Given the description of an element on the screen output the (x, y) to click on. 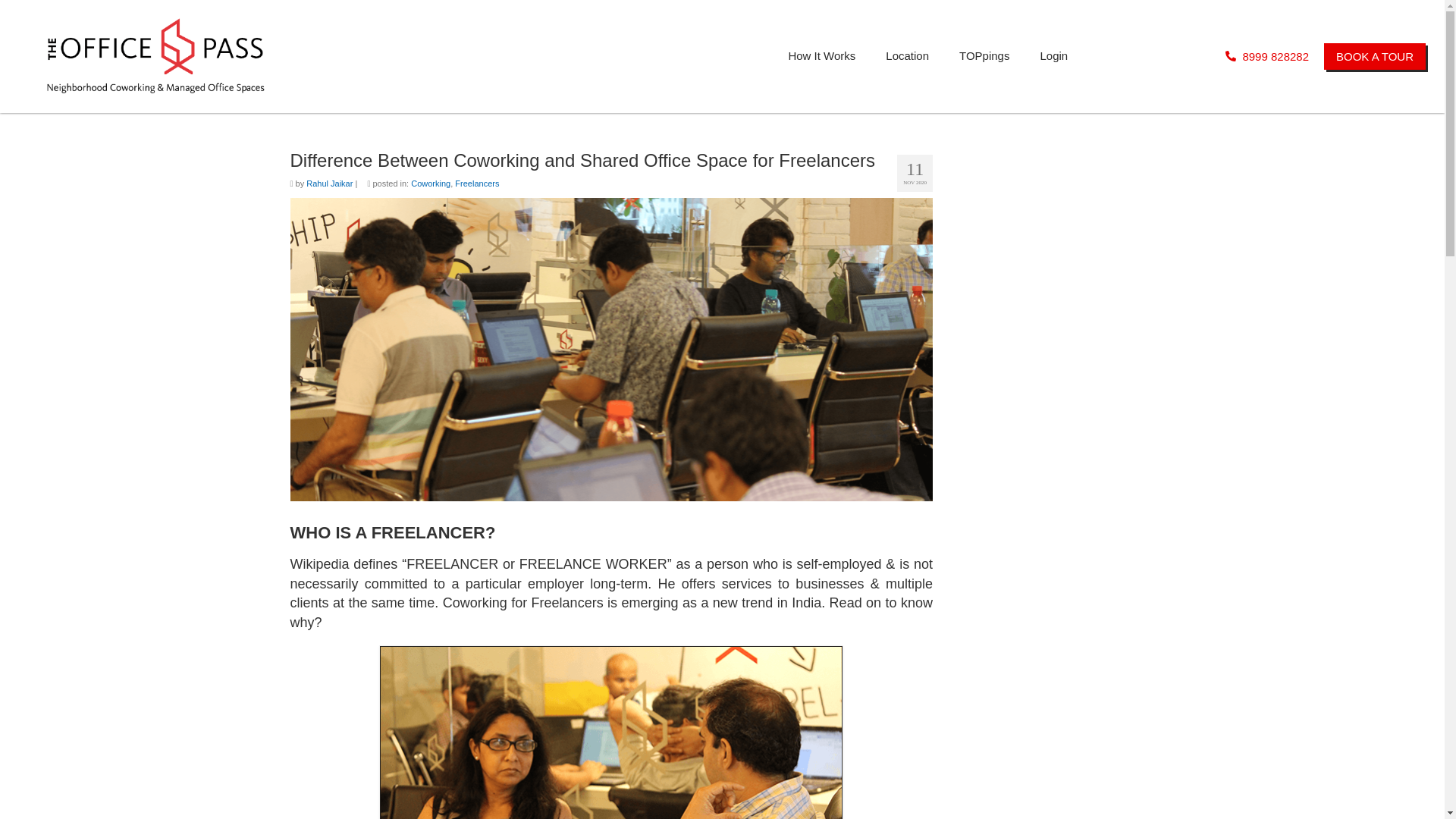
BOOK A TOUR (1374, 56)
TOPpings (984, 55)
Location (906, 55)
8999 828282 (1266, 56)
How It Works (821, 55)
Login (1054, 55)
